Given the description of an element on the screen output the (x, y) to click on. 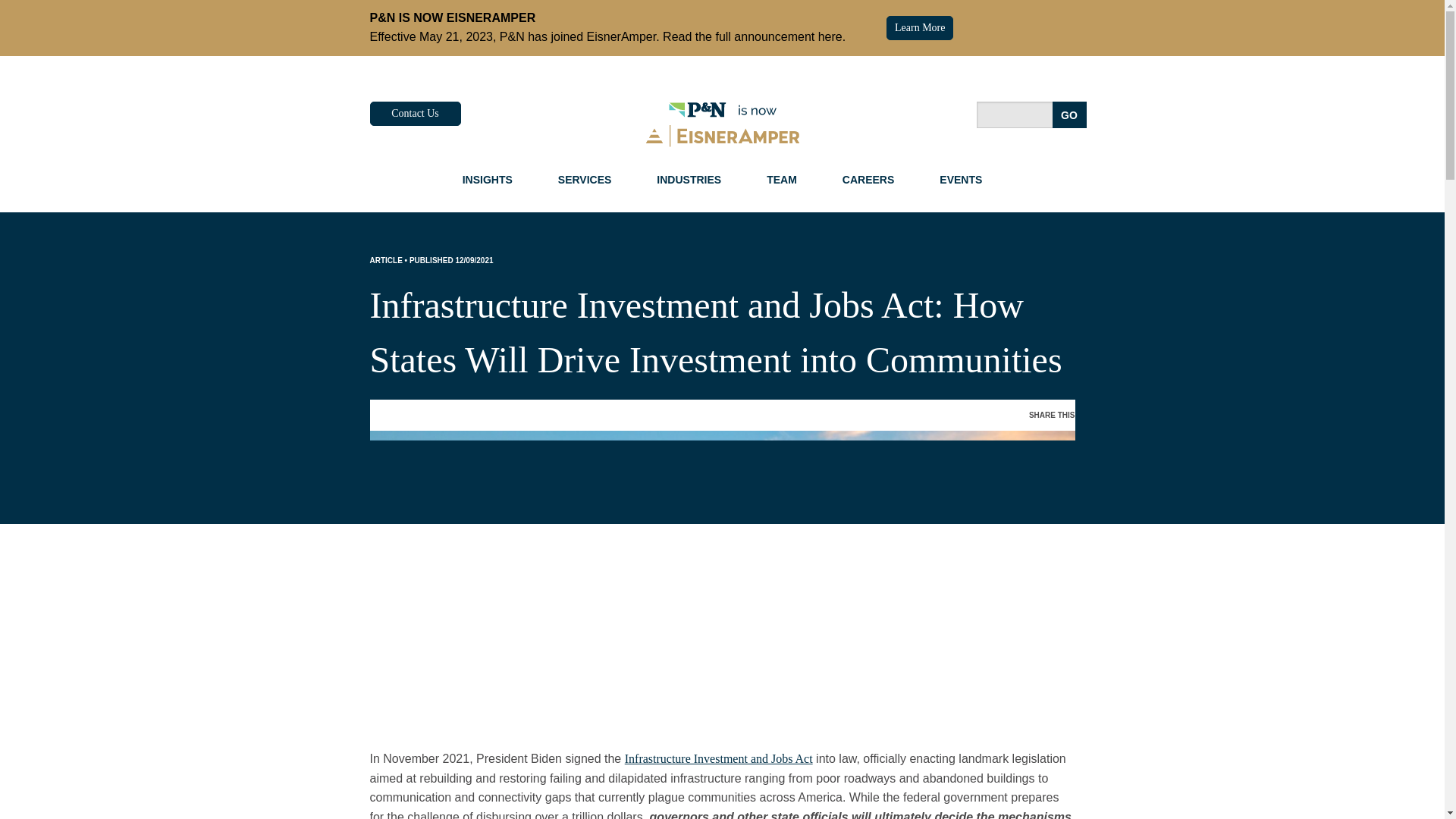
SERVICES (585, 179)
Go (1069, 114)
INDUSTRIES (689, 179)
INSIGHTS (486, 179)
Go (1069, 114)
Contact Us (415, 113)
Learn More (919, 27)
